Given the description of an element on the screen output the (x, y) to click on. 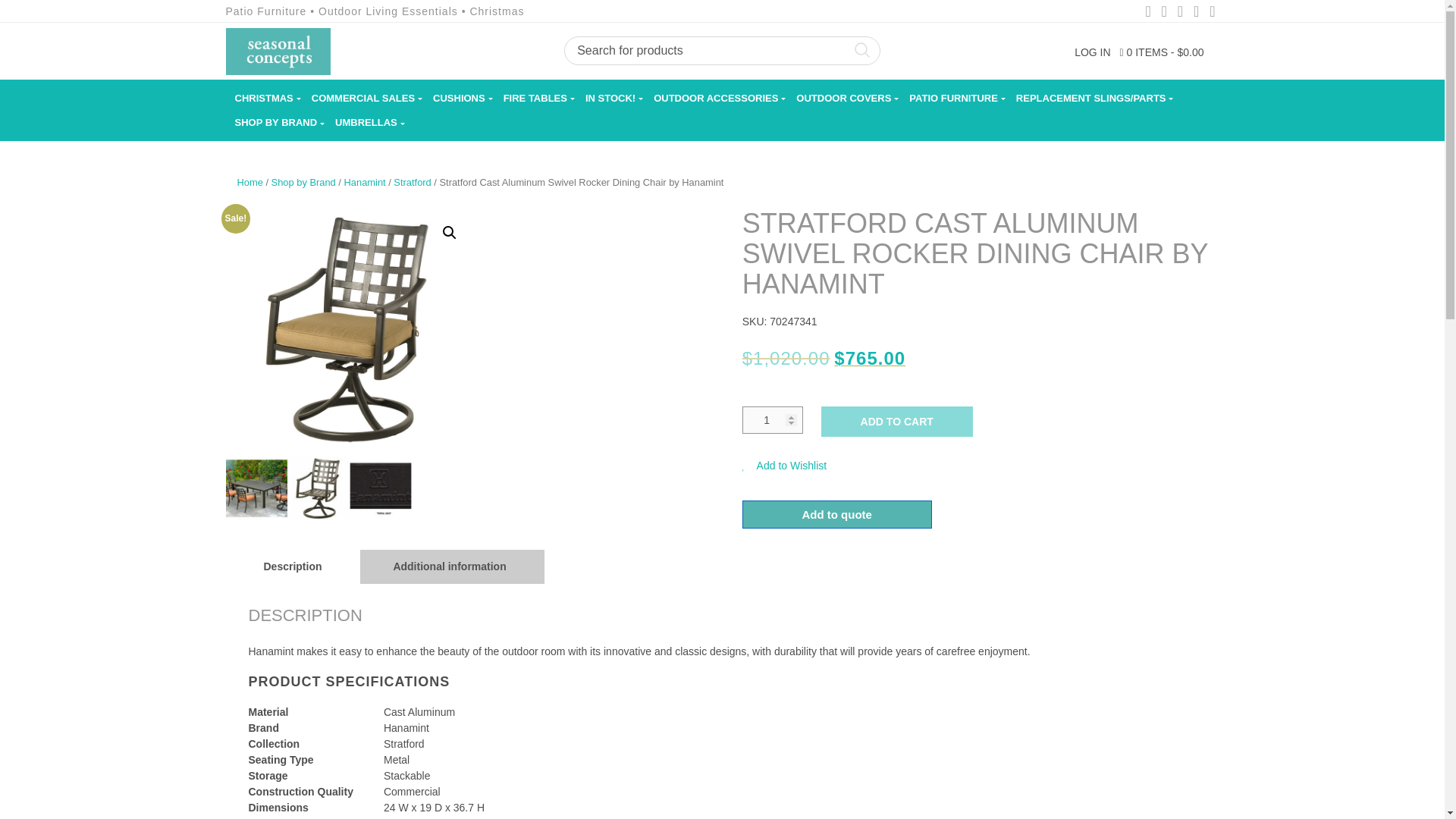
product-873311-1720804145-70247341 (349, 332)
Facebook (1147, 12)
Instagram (1195, 12)
Houzz (1211, 12)
CHRISTMAS (263, 97)
COMMERCIAL SALES (362, 97)
1 (772, 420)
Start shopping (1161, 52)
Pinterest (1179, 12)
Twitter (1163, 12)
LOG IN (1091, 52)
